Given the description of an element on the screen output the (x, y) to click on. 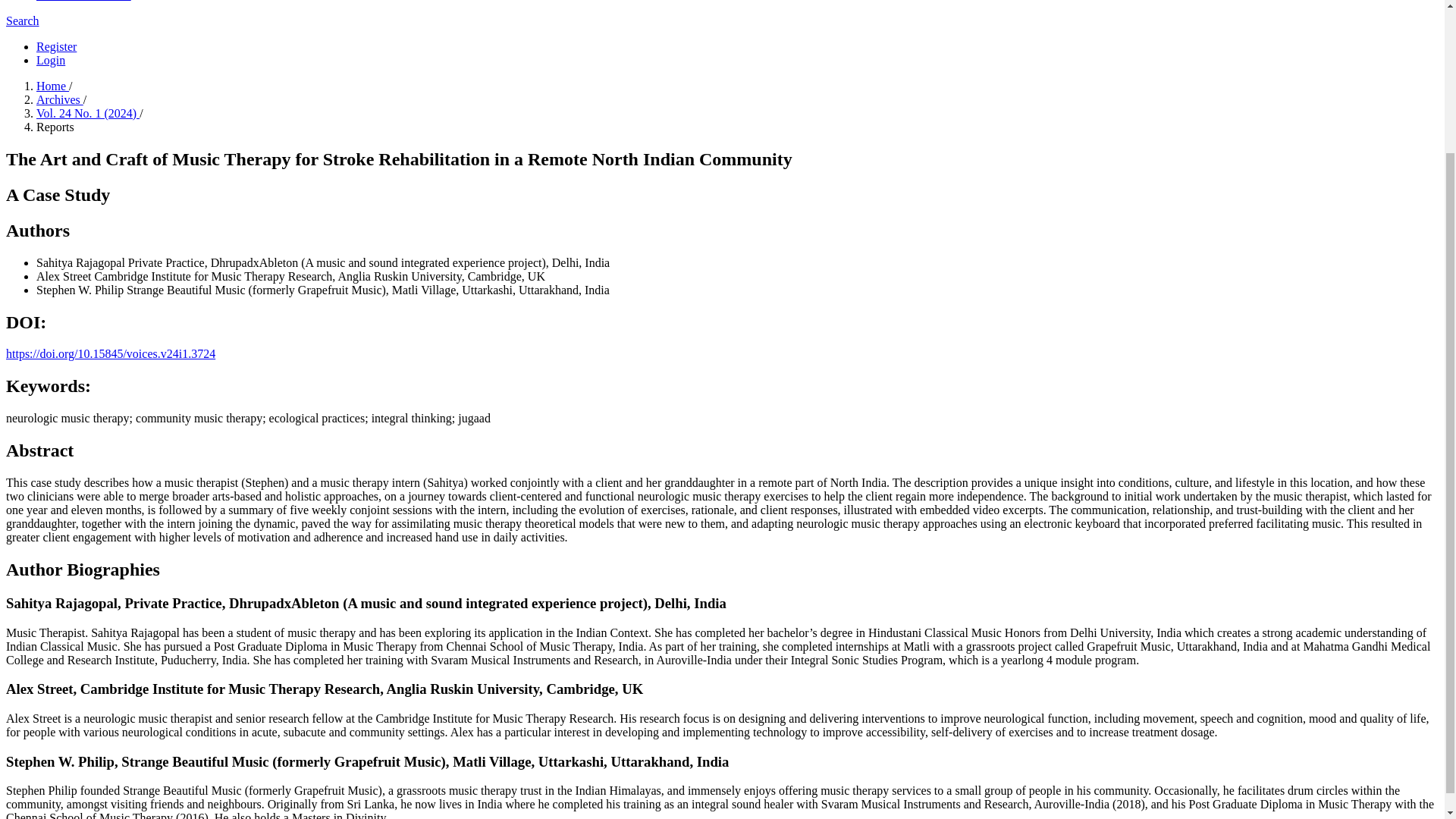
Search (22, 20)
Global Voices Wiki (83, 0)
Register (56, 46)
Archives (59, 99)
Login (50, 60)
Home (52, 85)
